Given the description of an element on the screen output the (x, y) to click on. 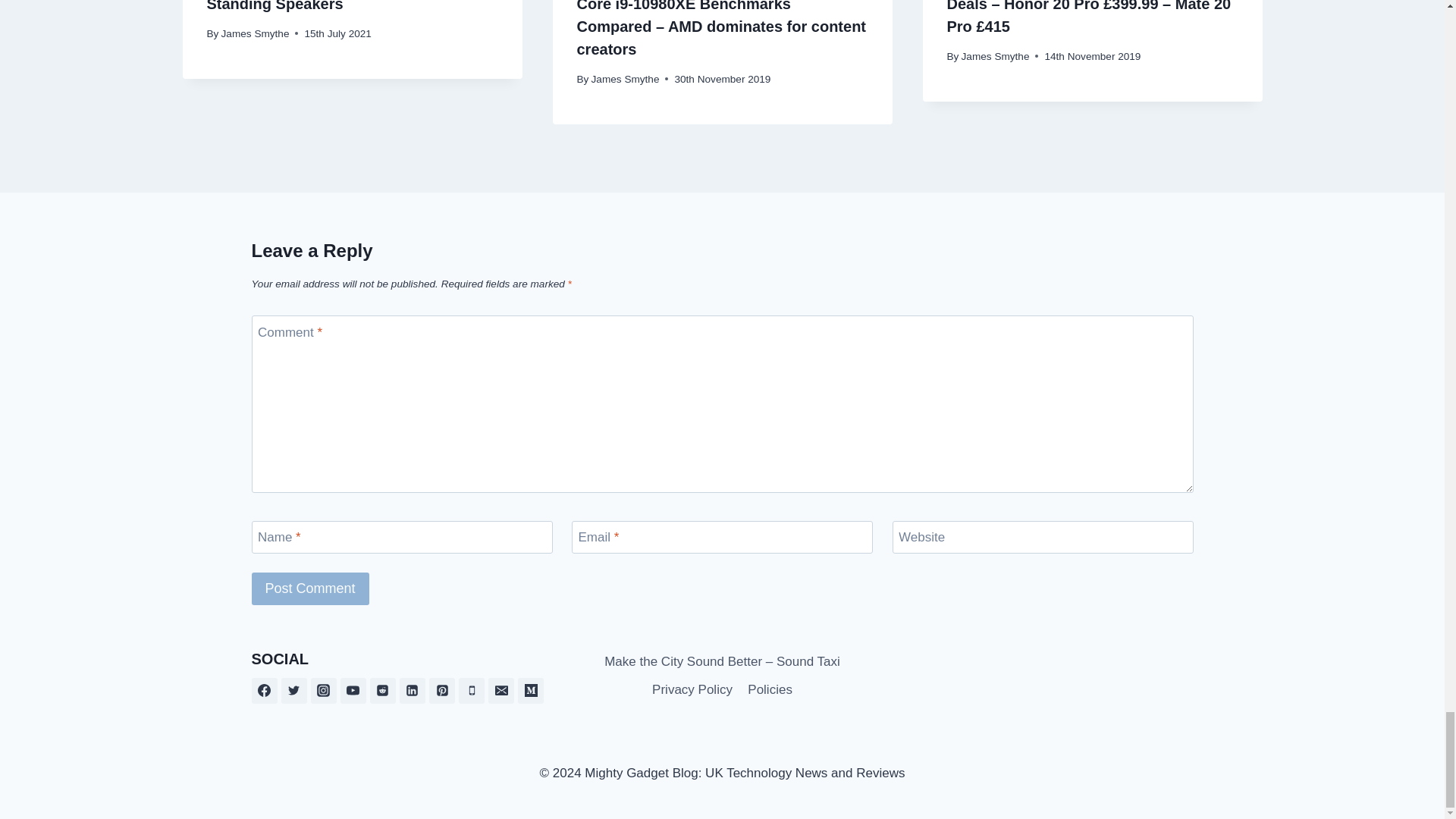
Post Comment (310, 588)
